Given the description of an element on the screen output the (x, y) to click on. 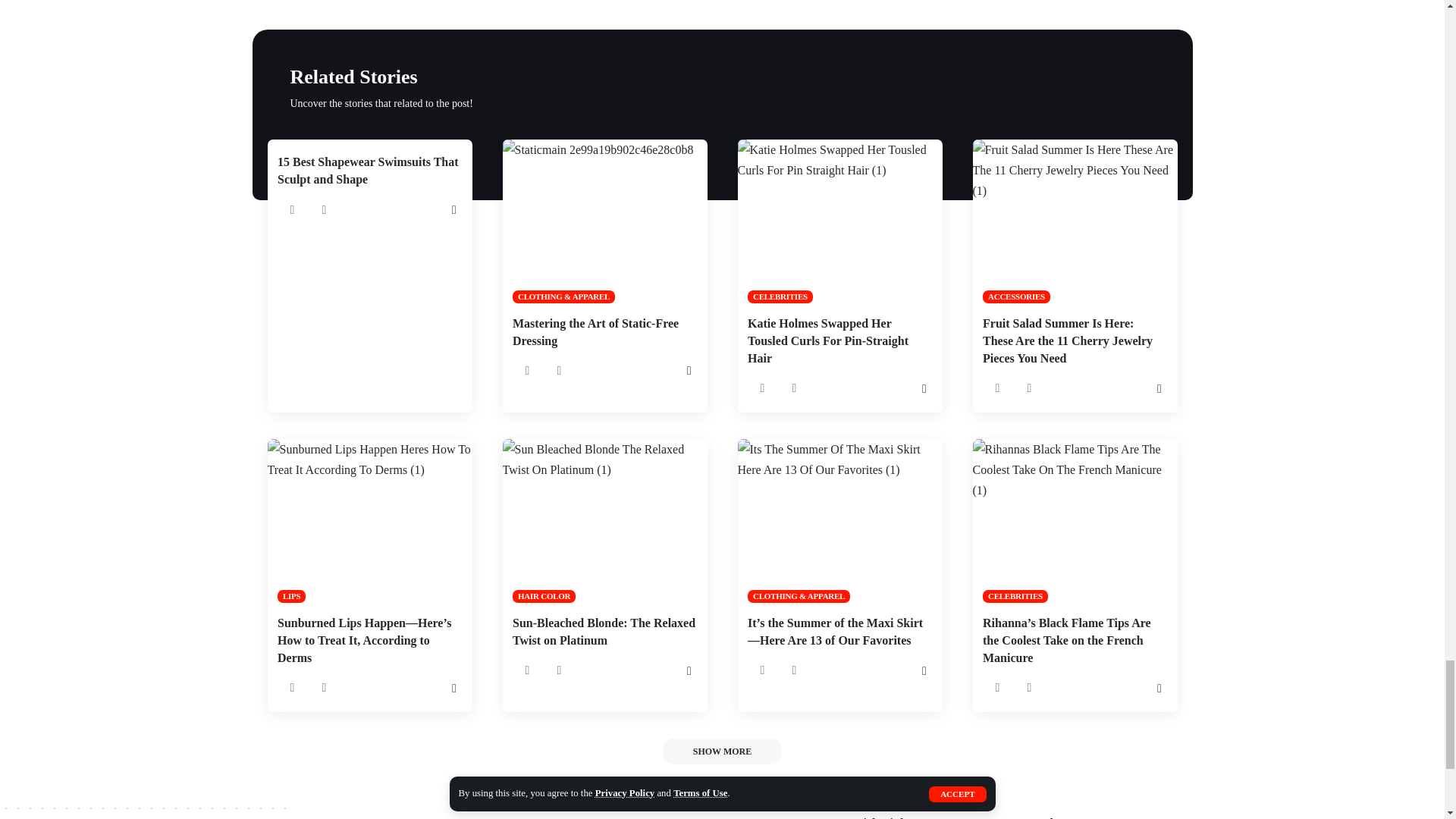
Katie Holmes Swapped Her Tousled Curls For Pin-Straight Hair (839, 221)
Mastering the Art of Static-Free Dressing (604, 221)
